Given the description of an element on the screen output the (x, y) to click on. 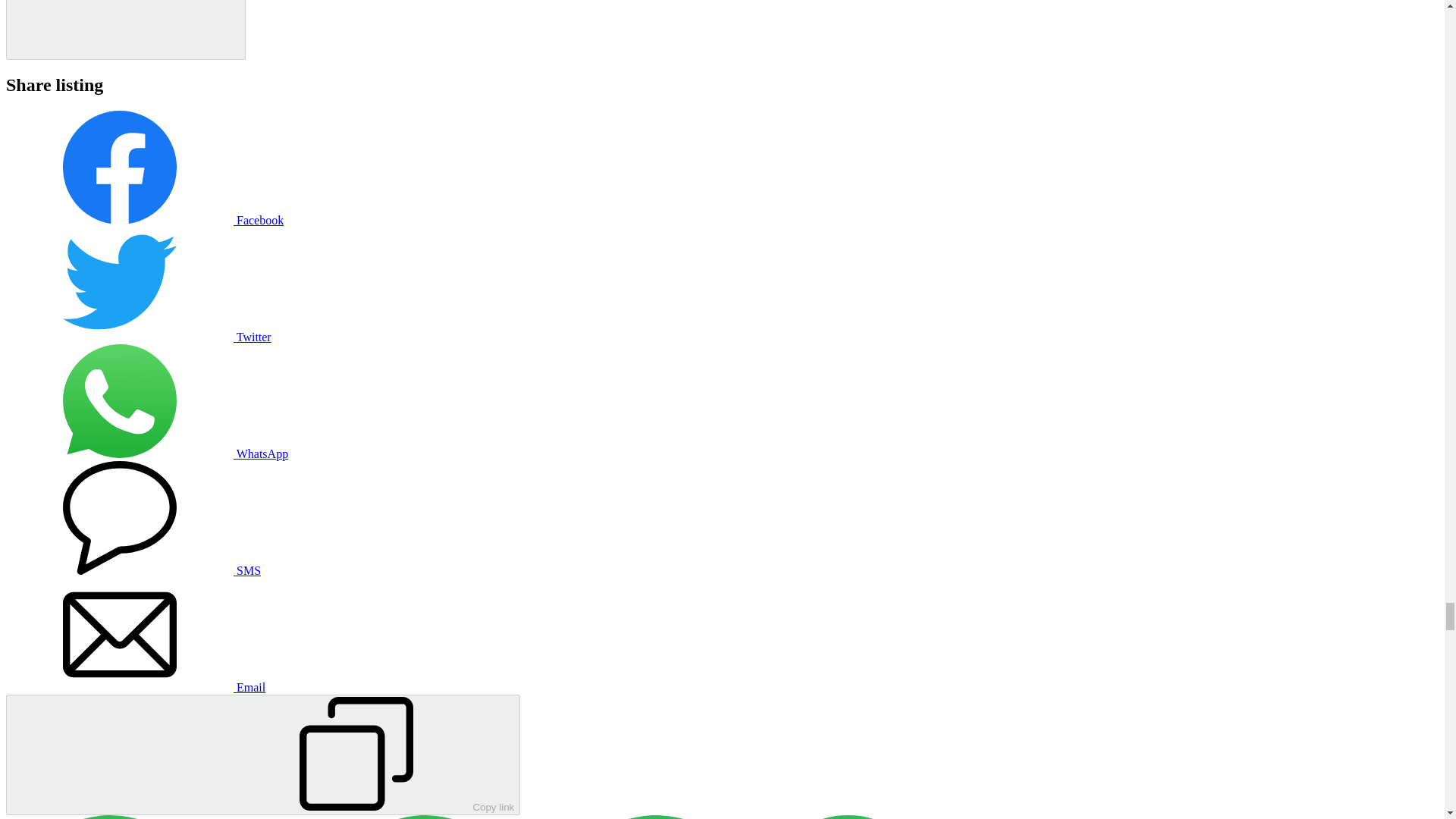
Back (125, 29)
